Given the description of an element on the screen output the (x, y) to click on. 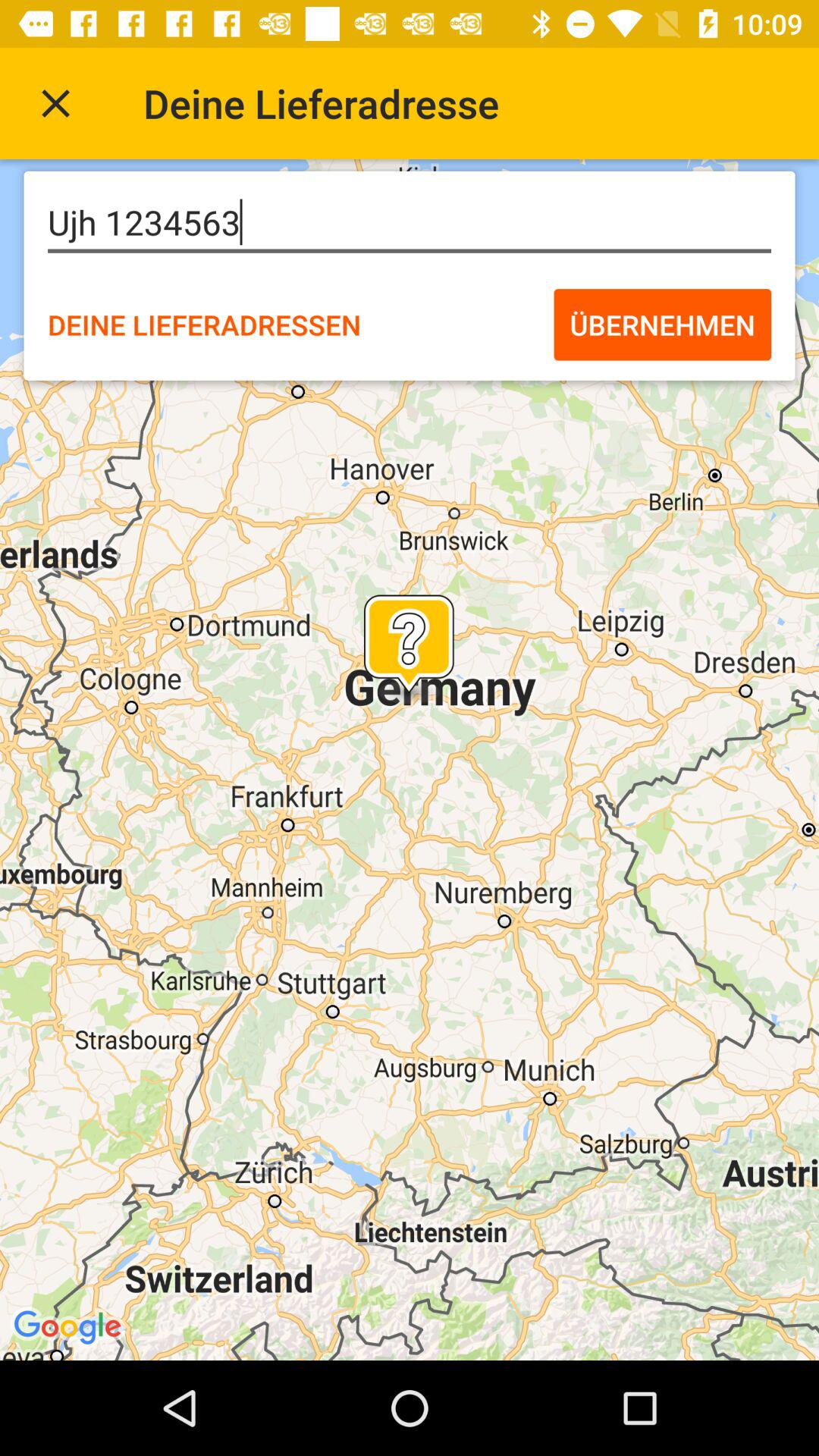
exit the current search (55, 103)
